Given the description of an element on the screen output the (x, y) to click on. 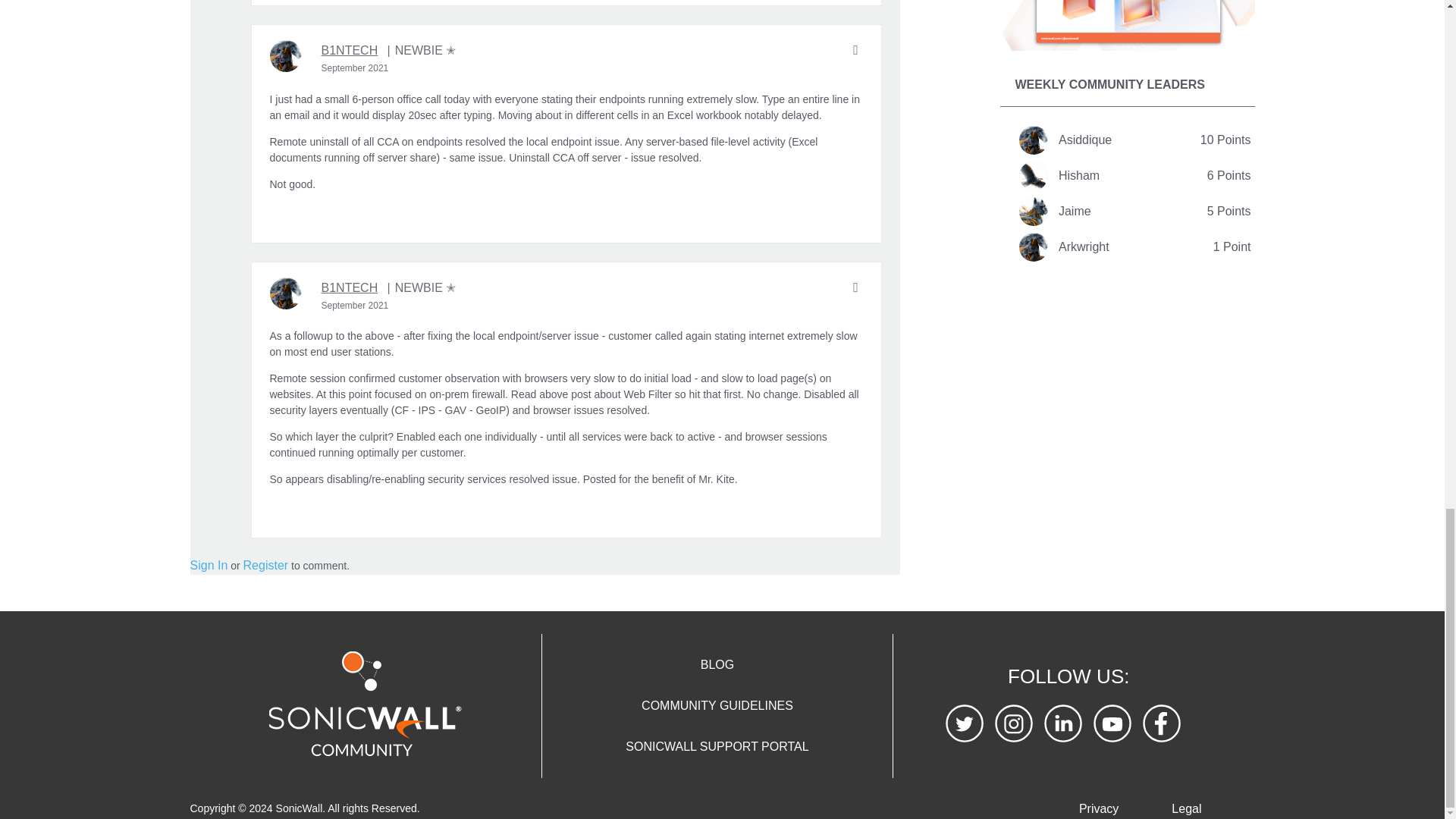
September 2021 (354, 68)
Newbie (421, 50)
b1ntech (285, 56)
September 21 2021 03:54pm (354, 68)
B1NTECH (349, 50)
